Given the description of an element on the screen output the (x, y) to click on. 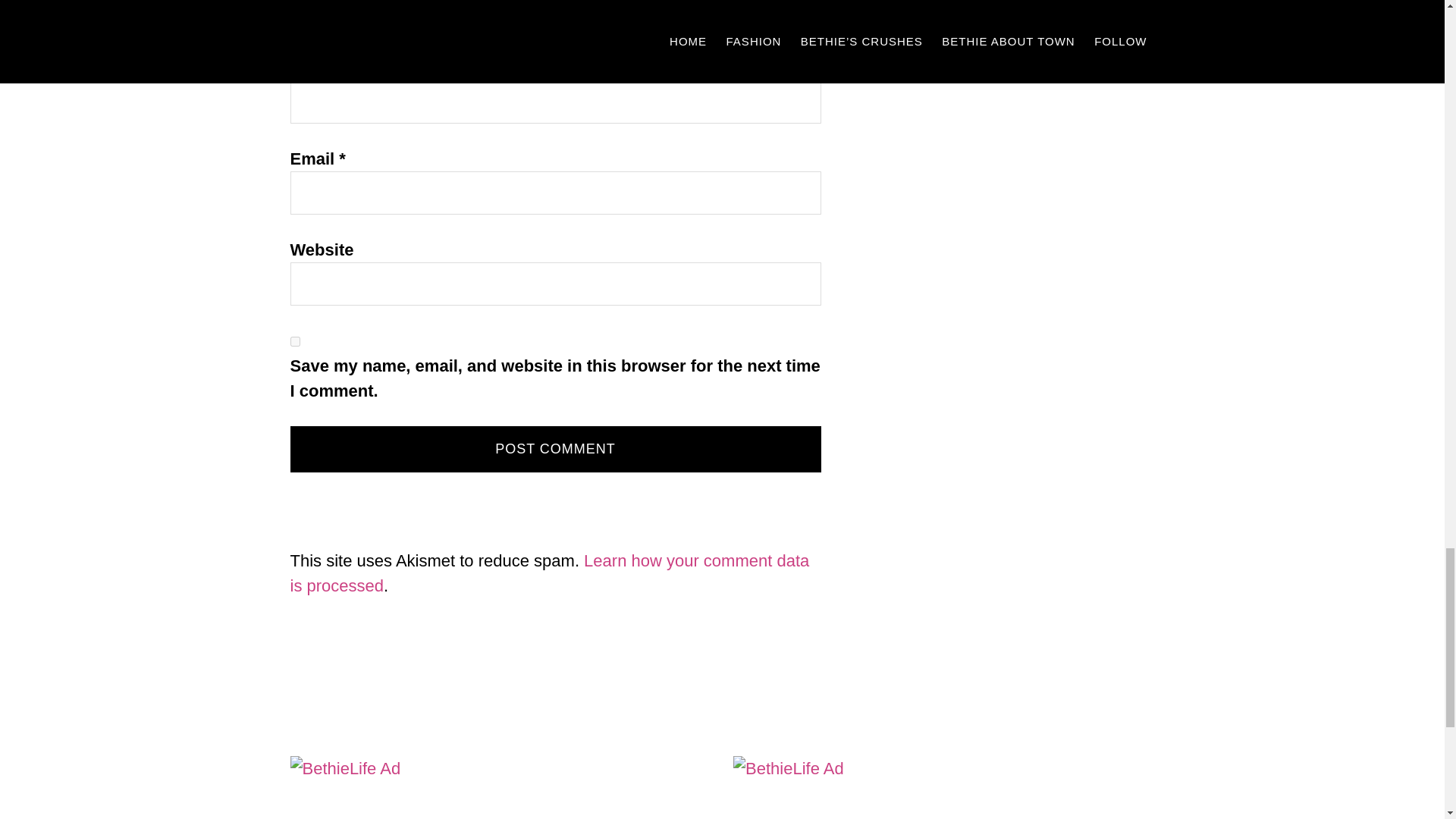
Post Comment (555, 448)
yes (294, 341)
Post Comment (555, 448)
Learn how your comment data is processed (549, 573)
